Given the description of an element on the screen output the (x, y) to click on. 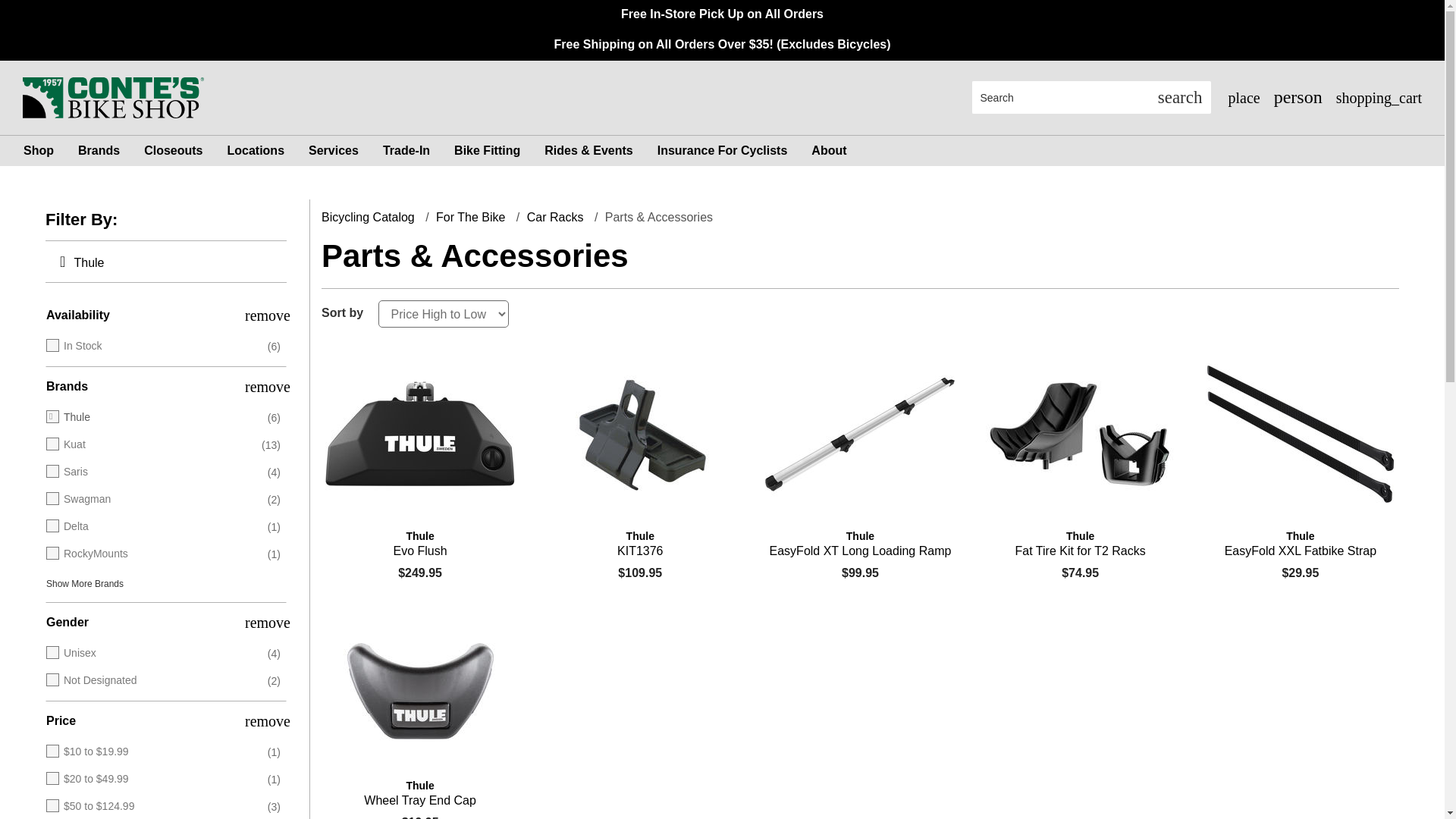
Shop (38, 150)
Search (1179, 97)
Stores (1242, 97)
Thule Evo Flush (419, 433)
Account (1296, 97)
Thule Evo Flush (419, 543)
Conte's Bike Shop Home Page (113, 96)
Search (1061, 97)
